Given the description of an element on the screen output the (x, y) to click on. 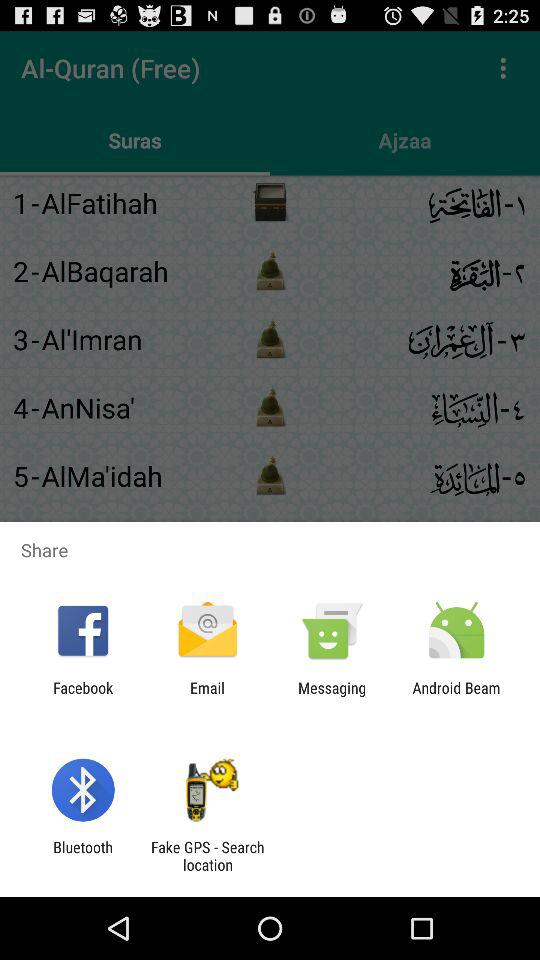
open the icon to the right of facebook item (207, 696)
